Given the description of an element on the screen output the (x, y) to click on. 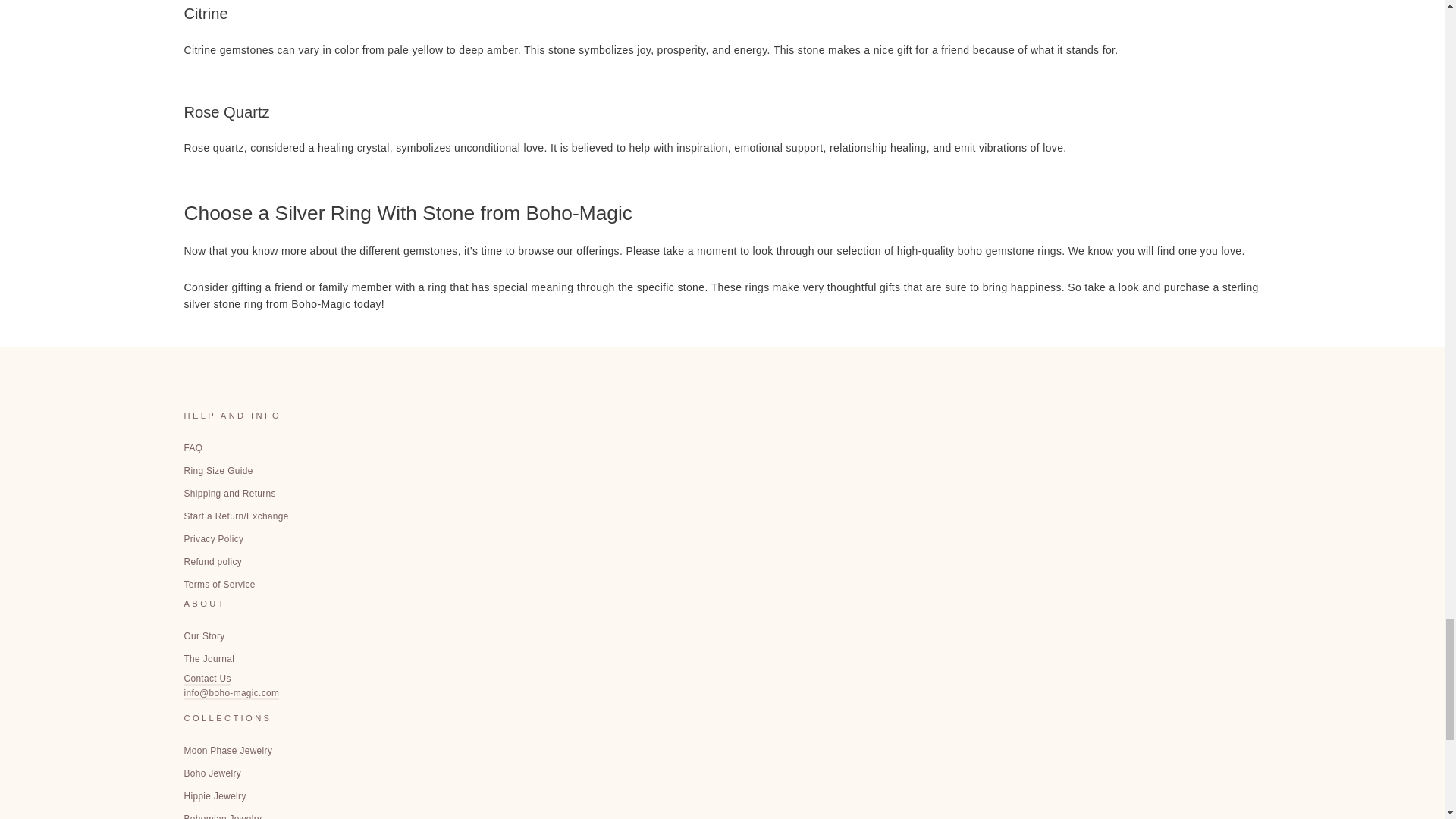
Contact (206, 686)
